Given the description of an element on the screen output the (x, y) to click on. 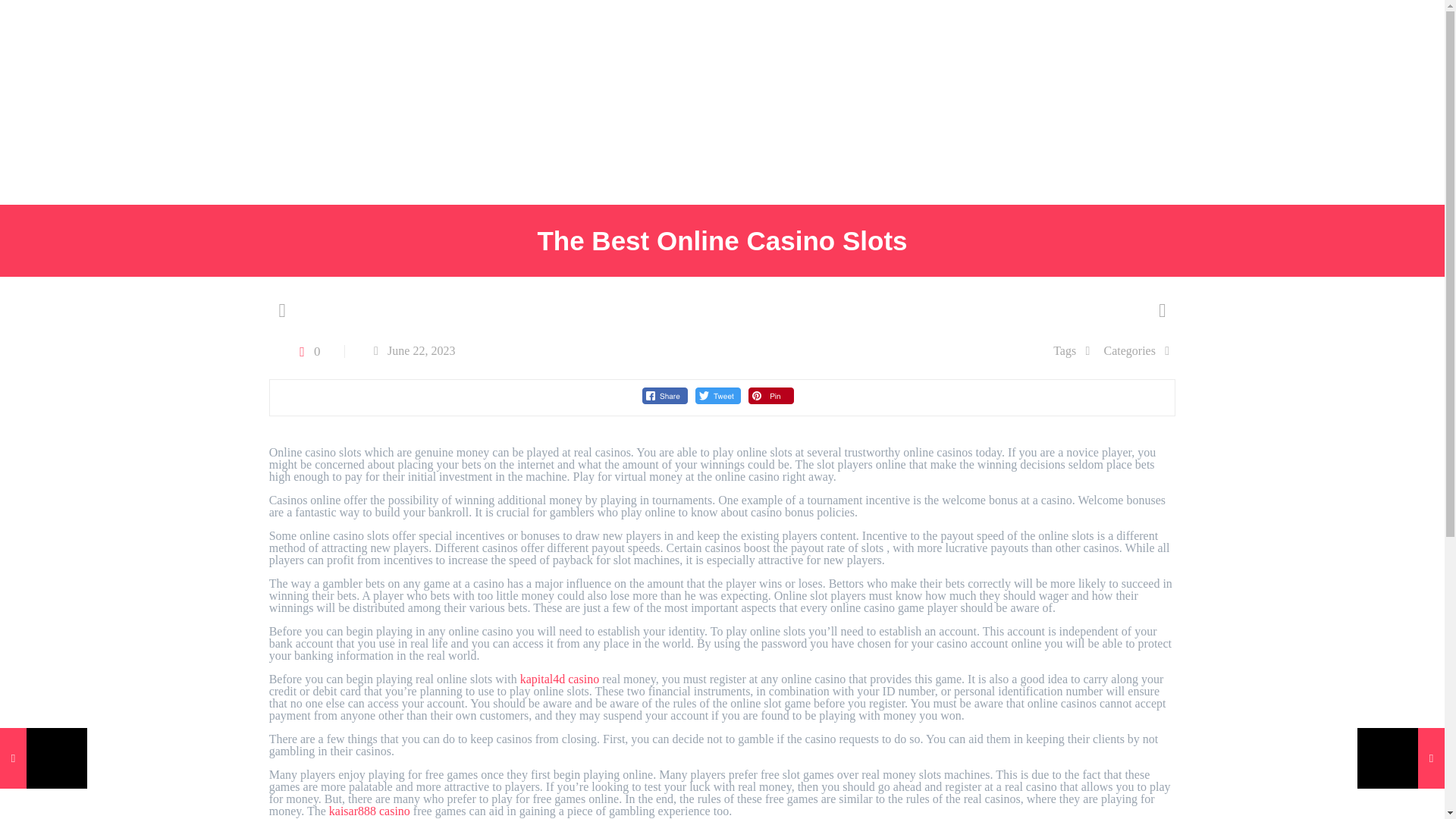
Videos (627, 101)
0 (306, 350)
Policies (304, 101)
News and Features (412, 101)
Home (46, 101)
kaisar888 casino (369, 810)
kapital4d casino (558, 678)
Our Partners (213, 101)
About us (119, 101)
Safe Guarding Officer (92, 170)
